Given the description of an element on the screen output the (x, y) to click on. 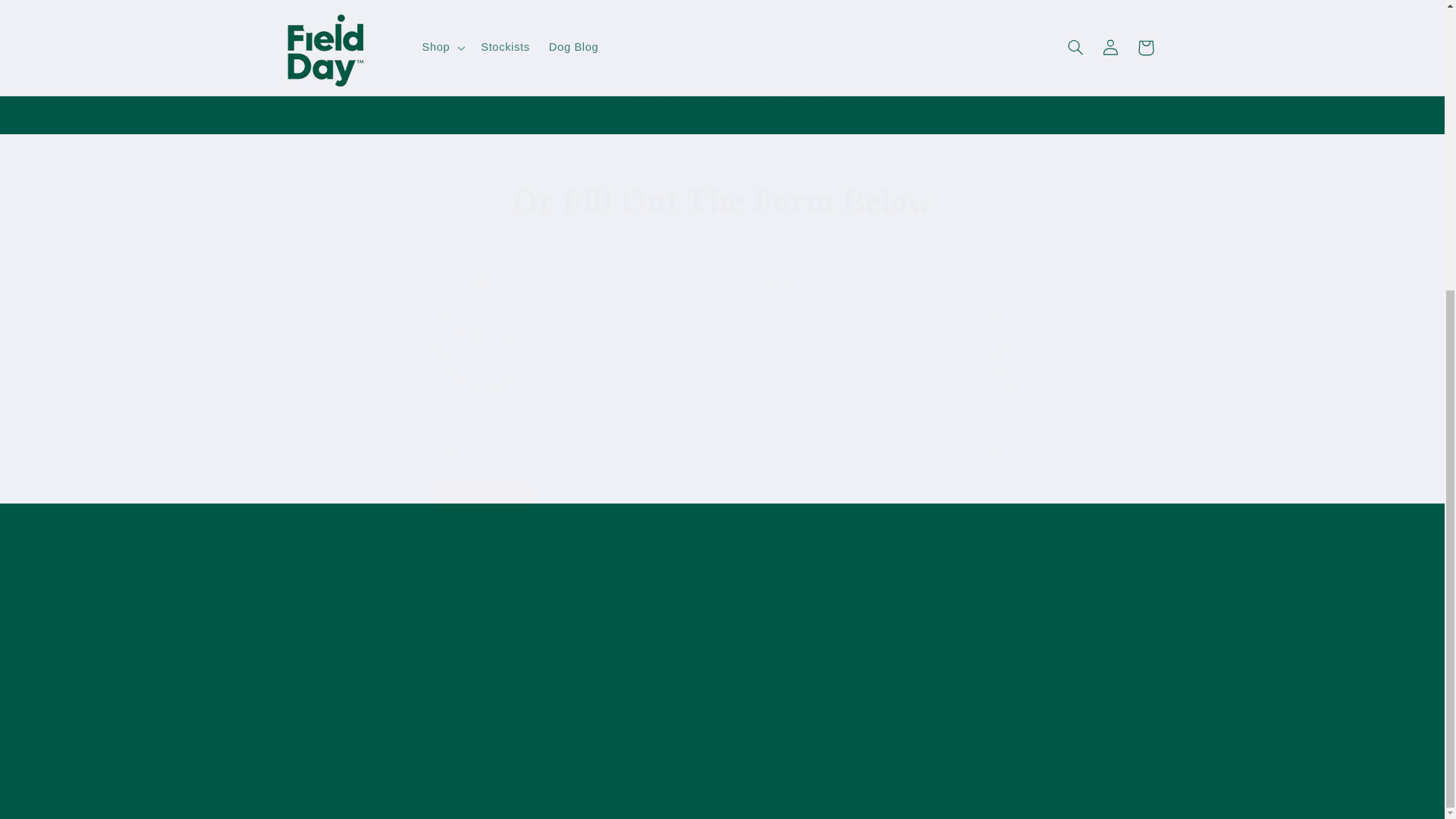
Or Fill Out The Form Below (722, 201)
Send (834, 640)
Home (480, 500)
